Given the description of an element on the screen output the (x, y) to click on. 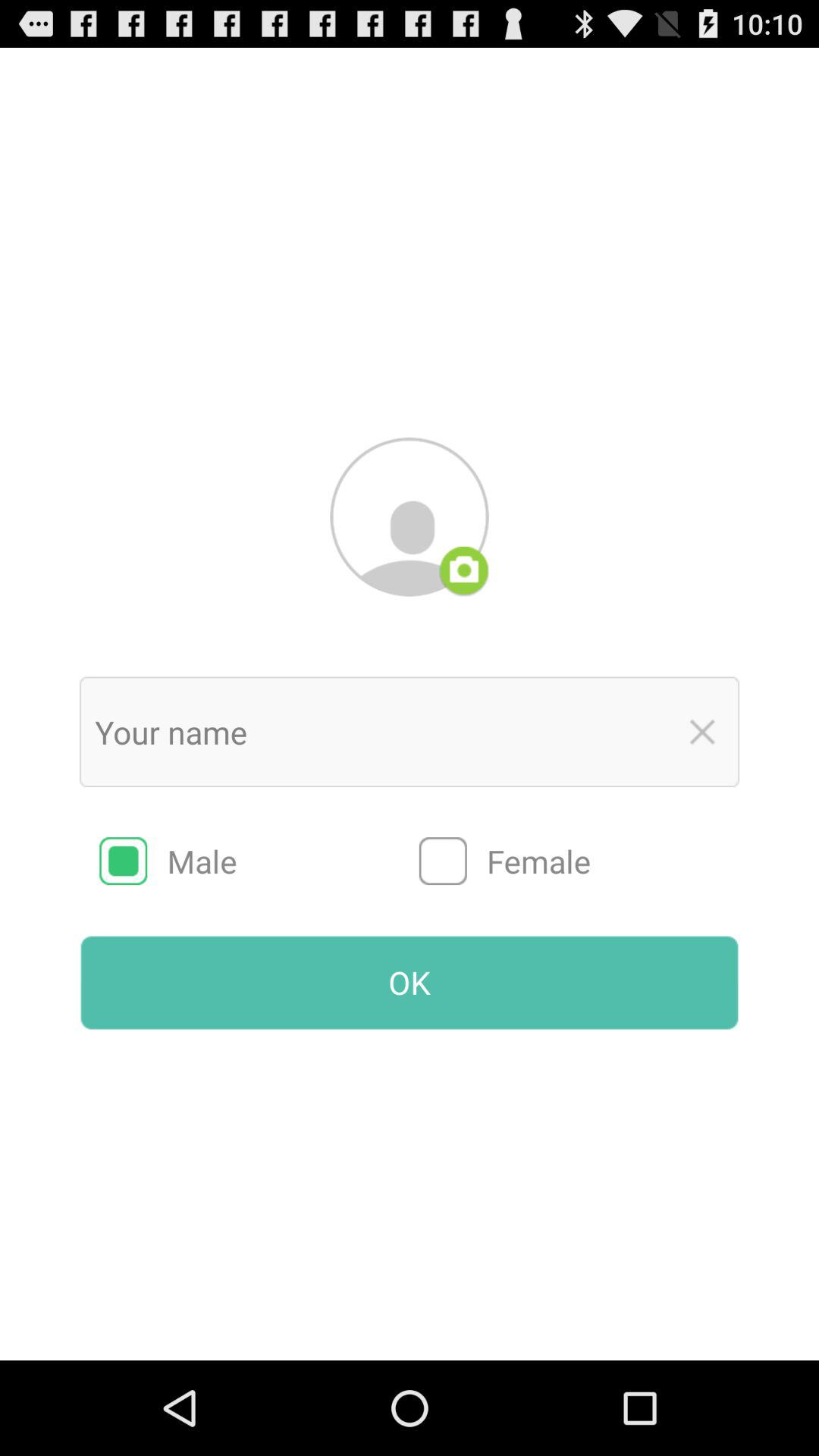
choose the ok button (409, 982)
